Given the description of an element on the screen output the (x, y) to click on. 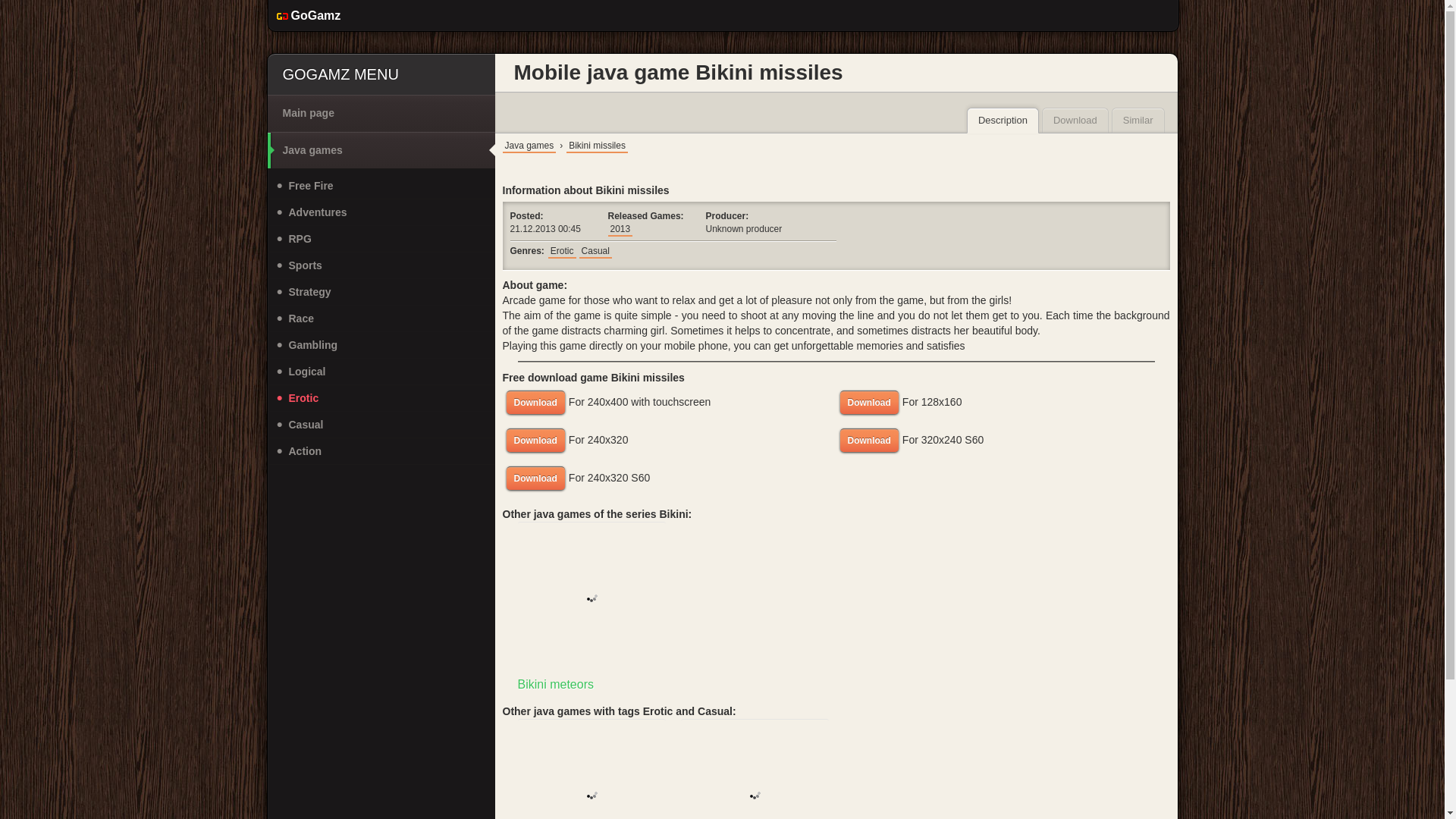
Main page (380, 113)
Free Fire (380, 185)
Sports (380, 265)
Strategy (380, 292)
Race (380, 318)
Description (1002, 120)
Erotic (561, 250)
2013 (620, 228)
Adventures (380, 212)
Bikini missiles (597, 145)
Casual (595, 250)
Java games (669, 402)
